Given the description of an element on the screen output the (x, y) to click on. 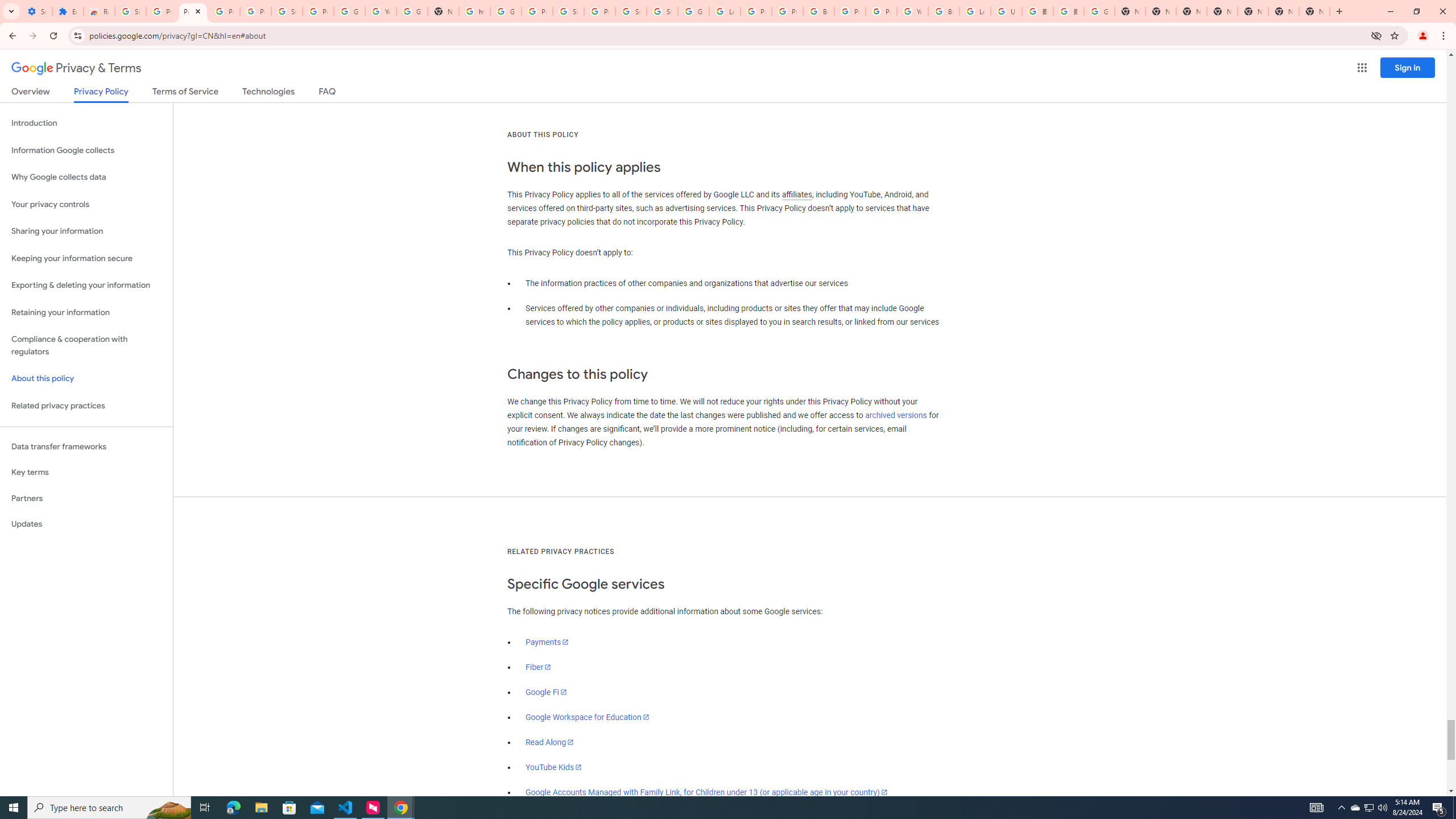
New Tab (1222, 11)
YouTube Kids (553, 767)
Read Along (550, 741)
Retaining your information (86, 312)
Compliance & cooperation with regulators (86, 345)
Fiber (538, 666)
